Given the description of an element on the screen output the (x, y) to click on. 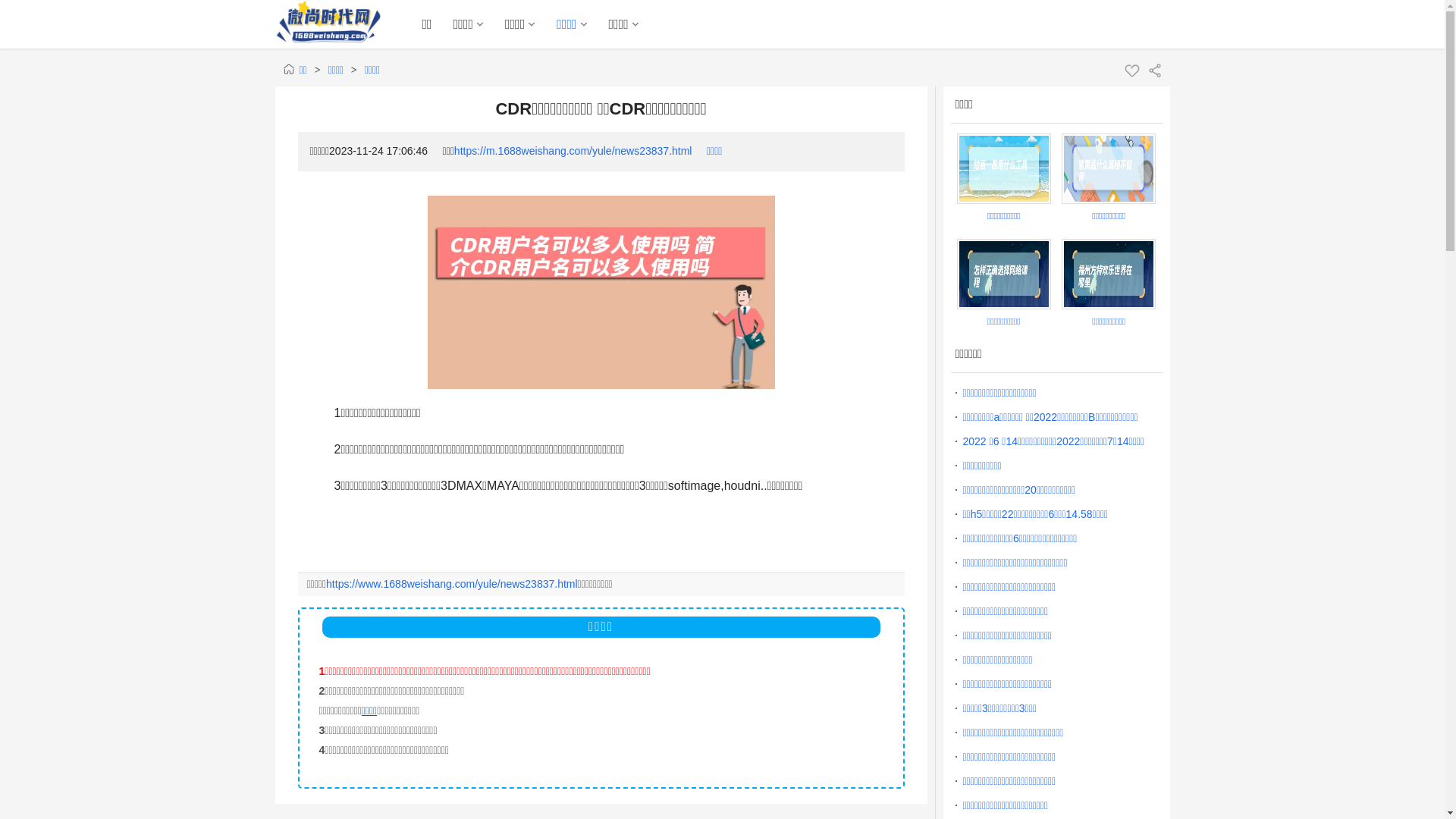
https://m.1688weishang.com/yule/news23837.html Element type: text (573, 150)
https://www.1688weishang.com/yule/news23837.html Element type: text (451, 583)
